Given the description of an element on the screen output the (x, y) to click on. 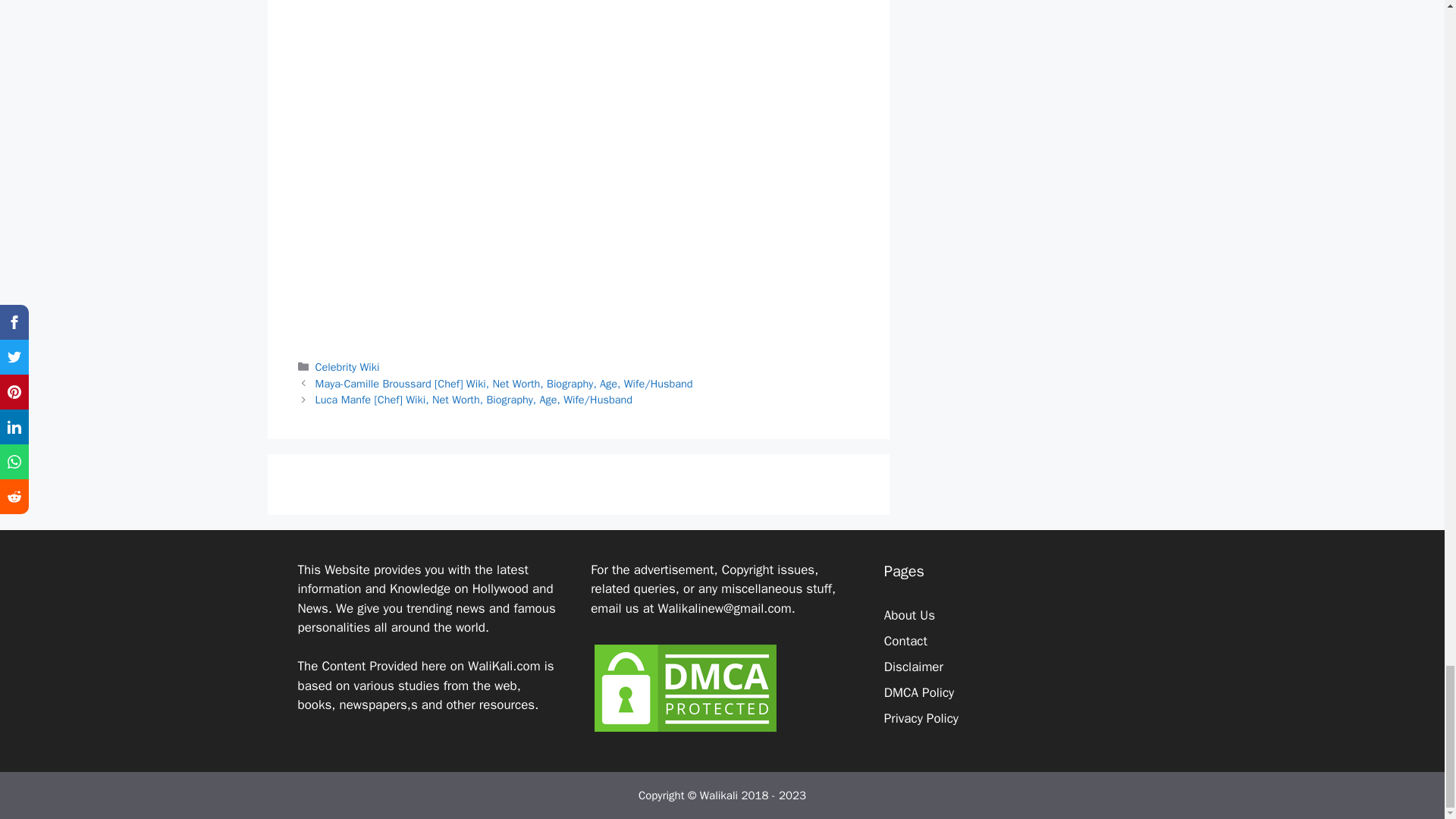
DMCA.com Protection Status (685, 731)
About Us (908, 615)
Privacy Policy (920, 718)
DMCA Policy (918, 692)
WaliKali.com (503, 666)
Contact (905, 641)
Disclaimer (913, 666)
Celebrity Wiki (347, 366)
